Given the description of an element on the screen output the (x, y) to click on. 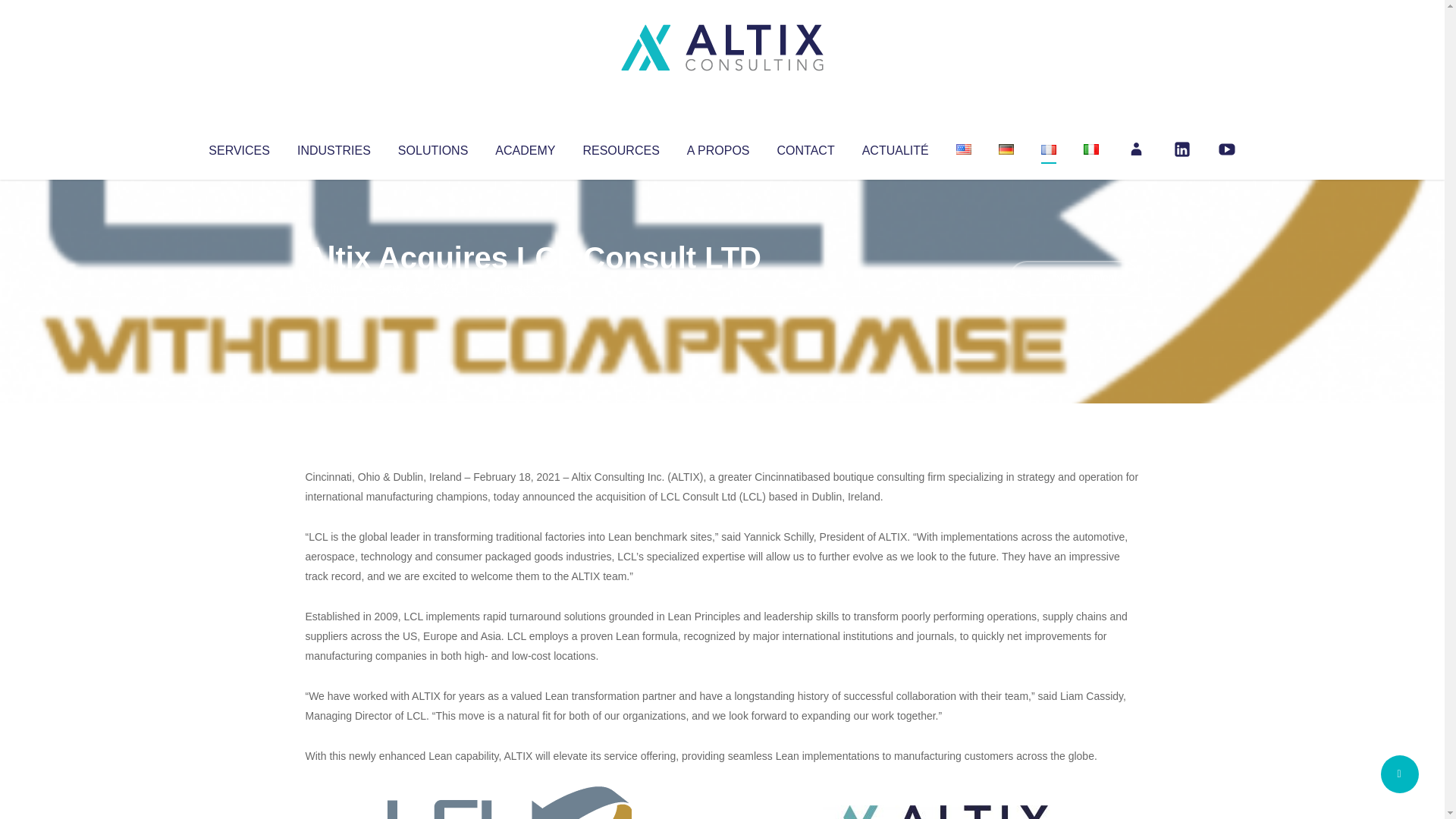
No Comments (1073, 278)
SERVICES (238, 146)
ACADEMY (524, 146)
RESOURCES (620, 146)
A PROPOS (718, 146)
SOLUTIONS (432, 146)
Uncategorized (530, 287)
INDUSTRIES (334, 146)
Articles par Altix (333, 287)
Altix (333, 287)
